Given the description of an element on the screen output the (x, y) to click on. 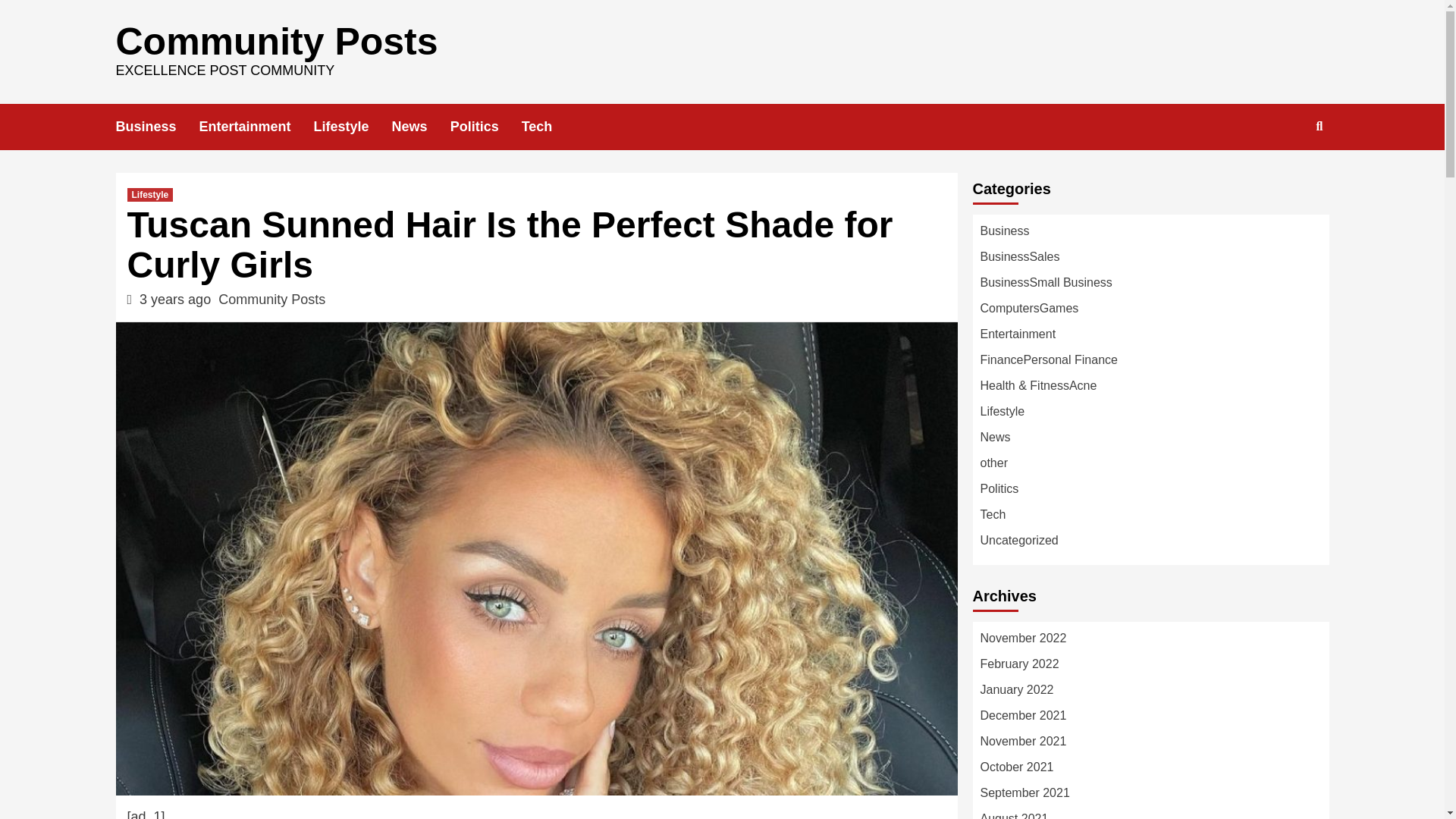
Business (1004, 230)
Business (156, 126)
Politics (485, 126)
Search (1283, 175)
Tech (548, 126)
Community Posts (271, 299)
BusinessSales (1019, 256)
Entertainment (256, 126)
Lifestyle (150, 194)
ComputersGames (1028, 308)
BusinessSmall Business (1045, 282)
other (993, 462)
FinancePersonal Finance (1047, 359)
News (420, 126)
Lifestyle (352, 126)
